Given the description of an element on the screen output the (x, y) to click on. 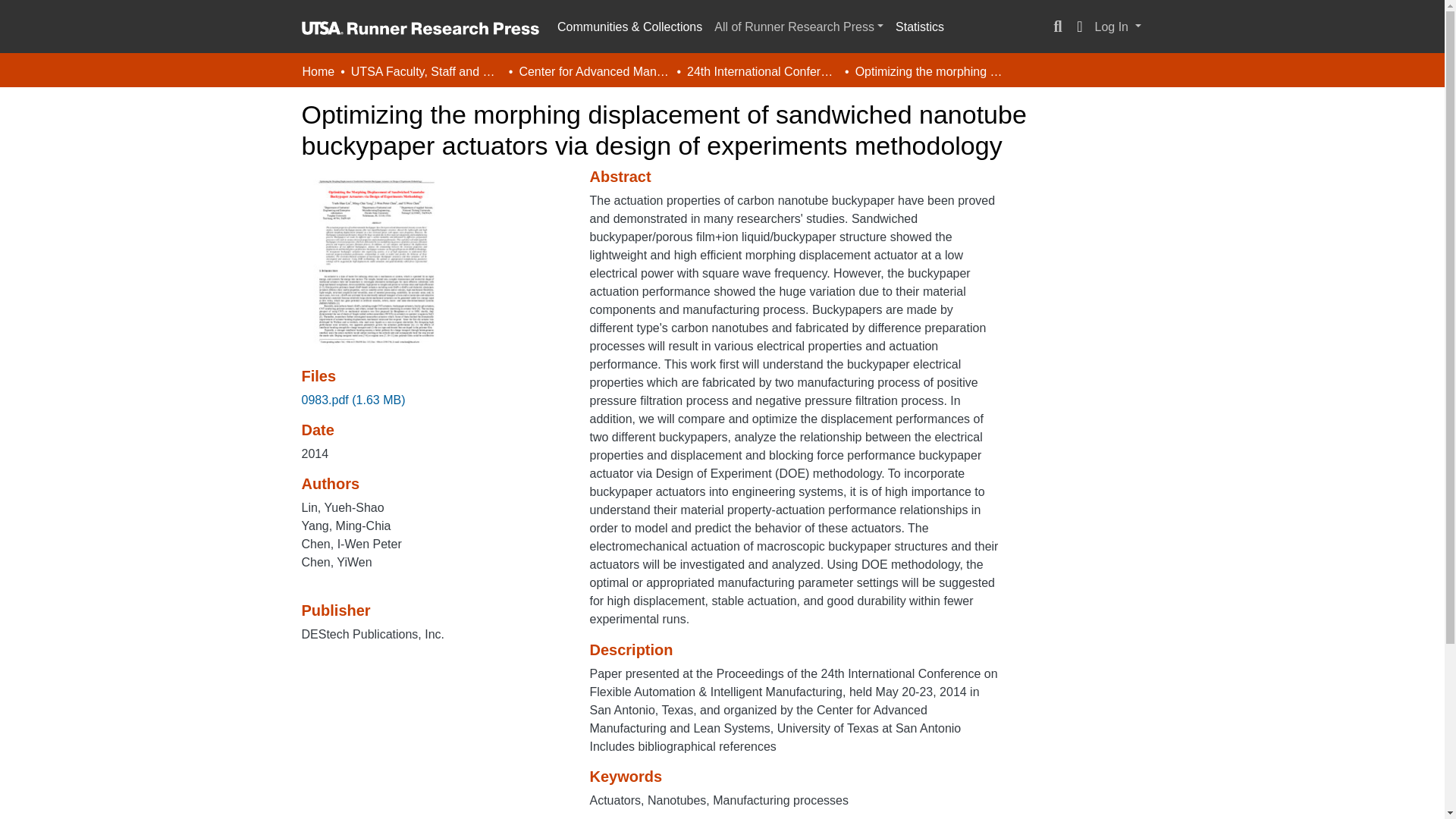
Language switch (1079, 27)
UTSA Faculty, Staff and Postdoctoral Researcher Work (426, 72)
Center for Advanced Manufacturing and Lean Systems (593, 72)
All of Runner Research Press (798, 27)
Statistics (919, 27)
Log In (1117, 26)
Statistics (919, 27)
Search (1057, 27)
Home (317, 72)
